Given the description of an element on the screen output the (x, y) to click on. 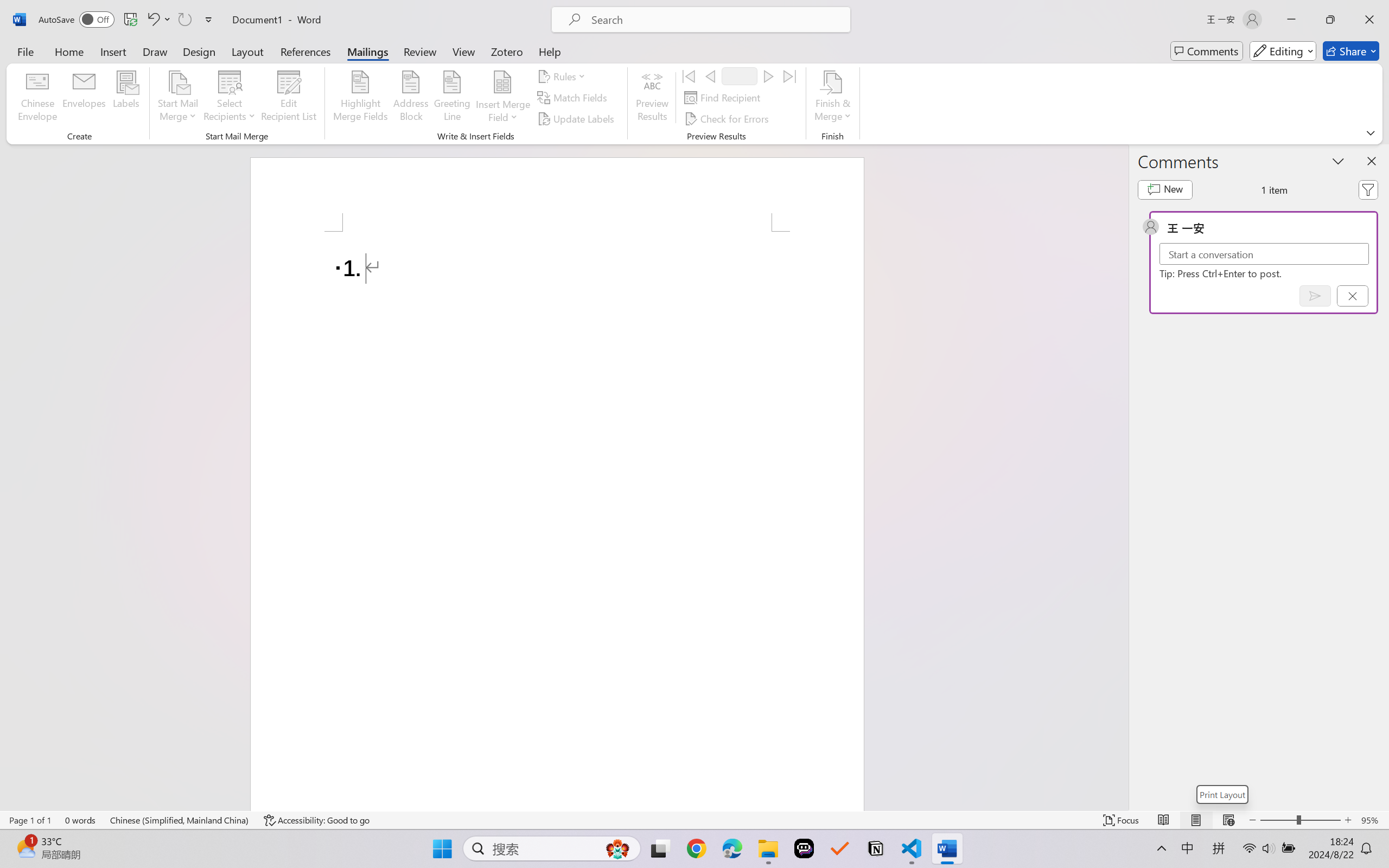
Record (739, 76)
Filter (1367, 189)
Address Block... (410, 97)
Greeting Line... (451, 97)
Cancel (1352, 295)
Start a conversation (1263, 254)
